Given the description of an element on the screen output the (x, y) to click on. 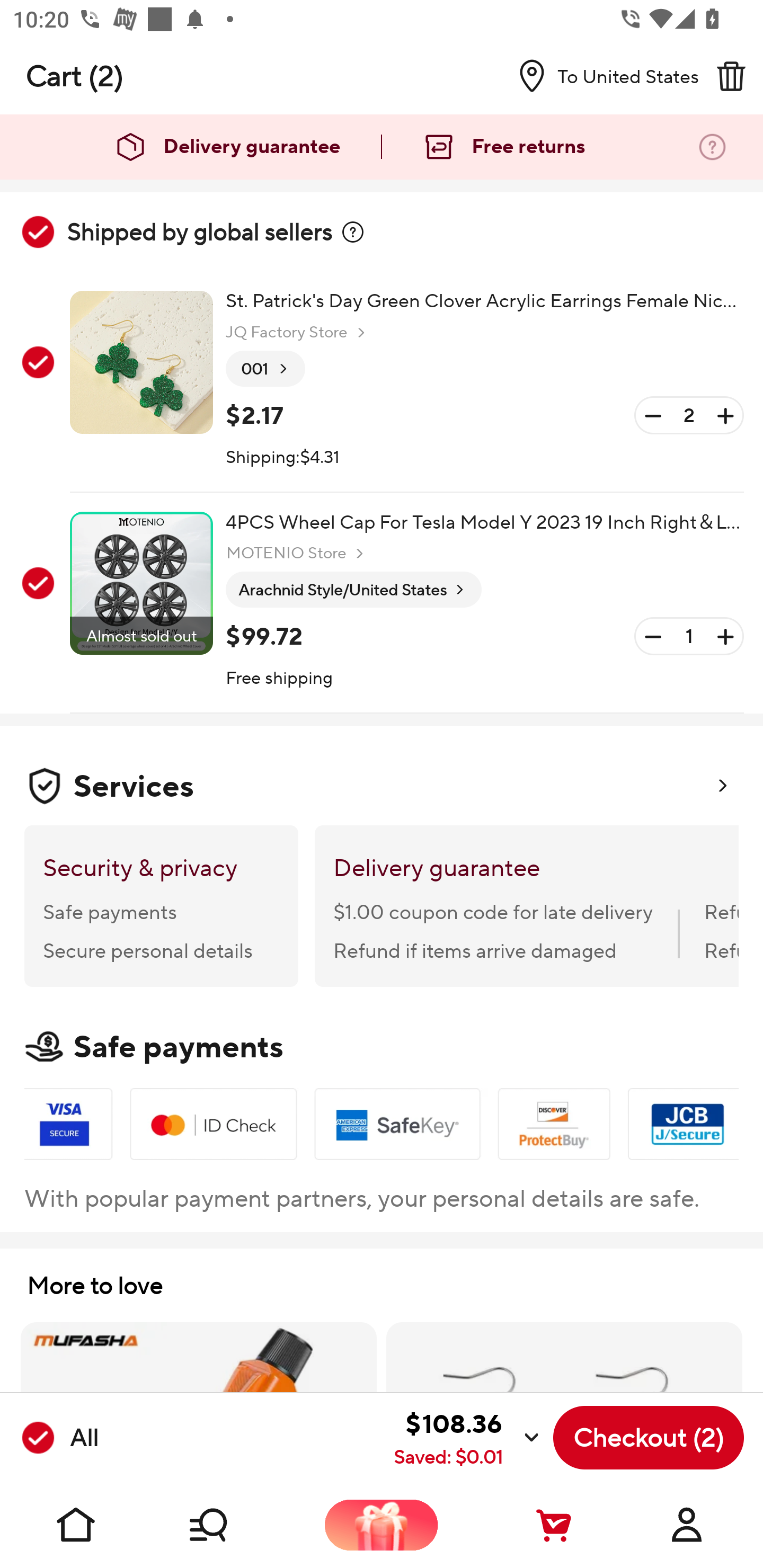
 To United States (601, 75)
 (730, 75)
 (352, 231)
JQ Factory Store (297, 333)
001 (265, 369)
2 (688, 415)
MOTENIO Store (296, 553)
Arachnid Style/United States (353, 590)
1 (688, 636)
$_108.36 Saved: $0.01  (324, 1437)
Checkout (2) (648, 1437)
Home (76, 1524)
Shop (228, 1524)
Account (686, 1524)
